Given the description of an element on the screen output the (x, y) to click on. 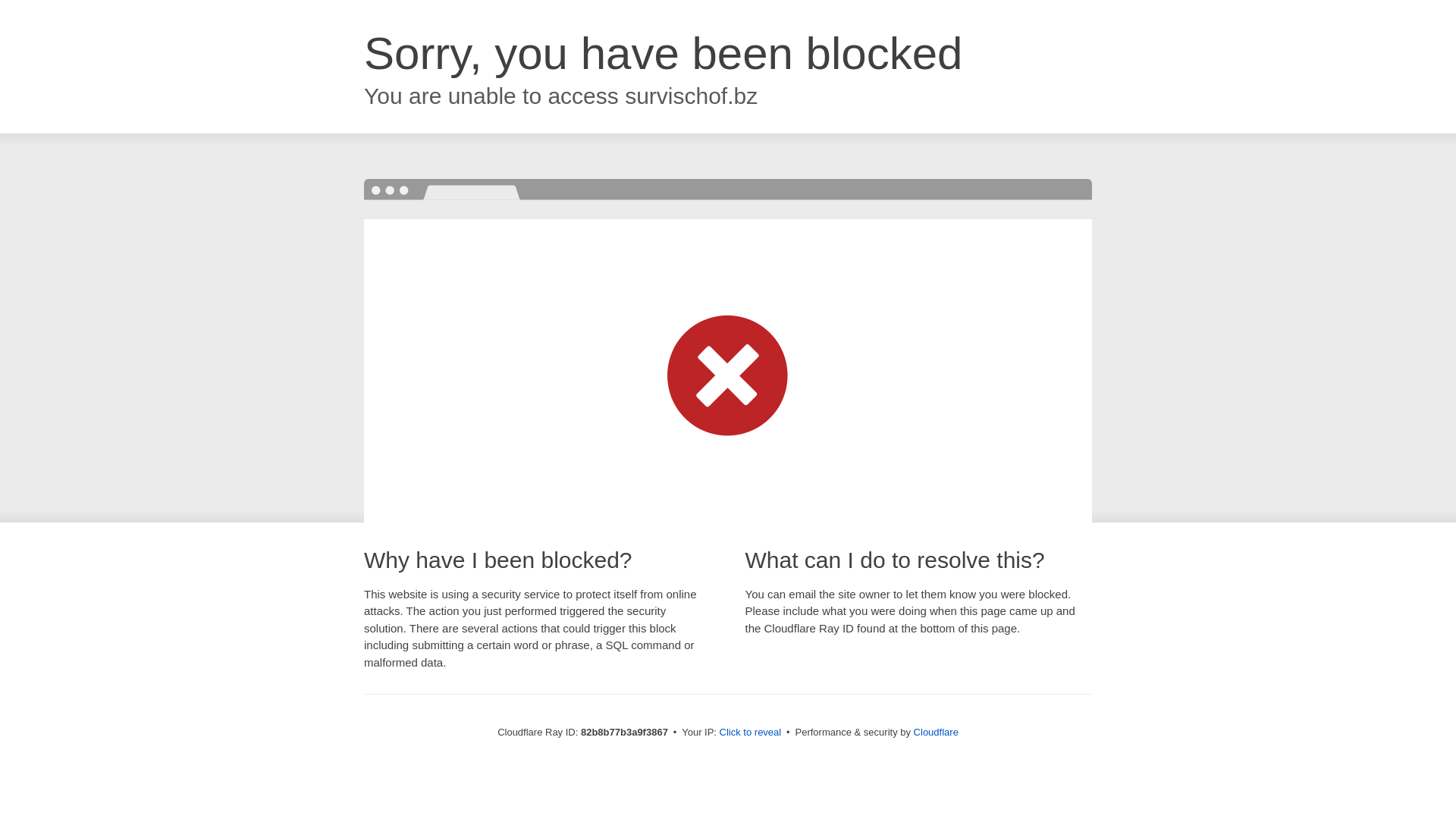
Click to reveal Element type: text (750, 732)
Cloudflare Element type: text (935, 731)
